Given the description of an element on the screen output the (x, y) to click on. 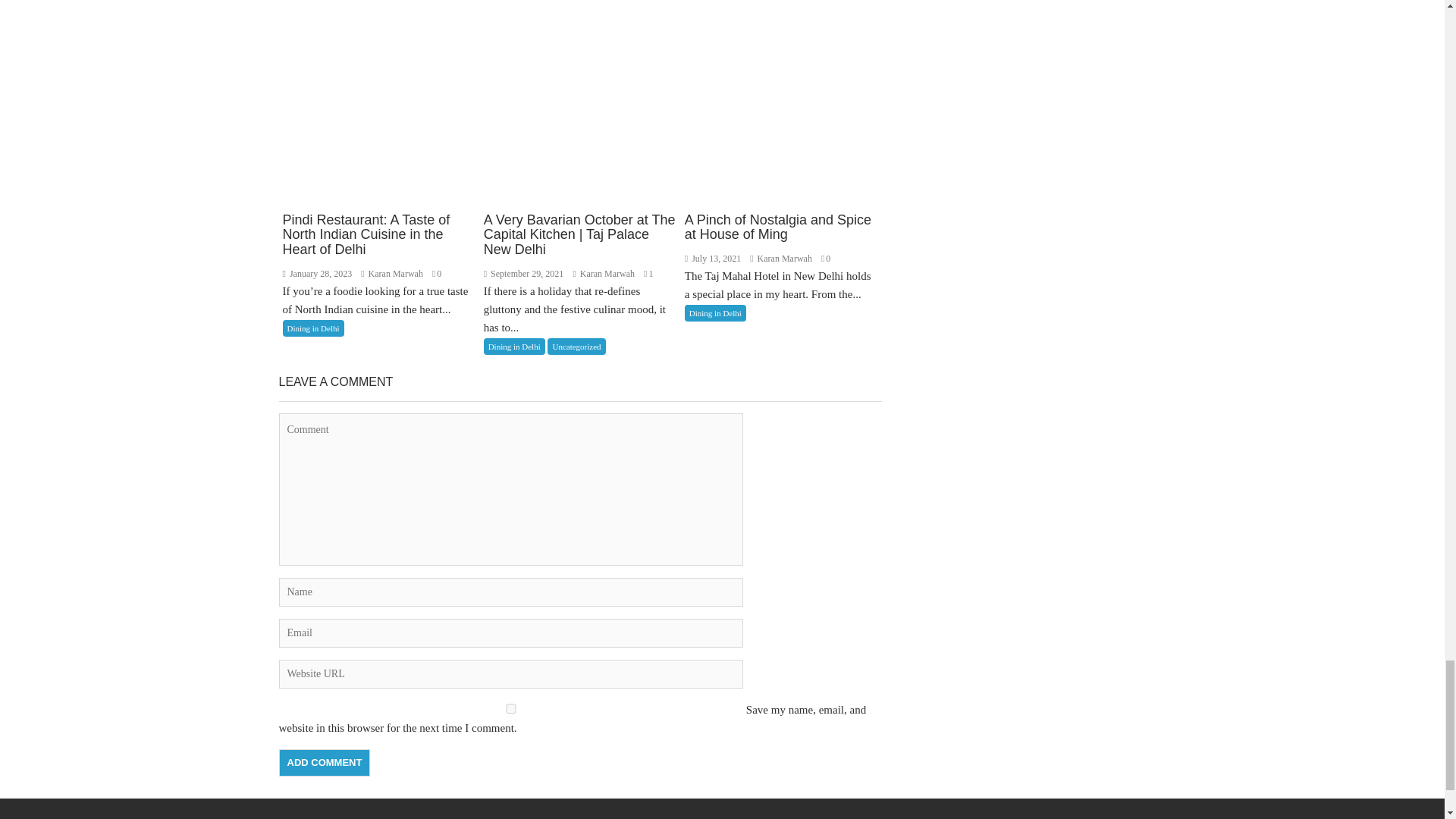
Karan Marwah (393, 273)
Add Comment (325, 762)
Karan Marwah (604, 273)
yes (511, 708)
Karan Marwah (781, 258)
